Given the description of an element on the screen output the (x, y) to click on. 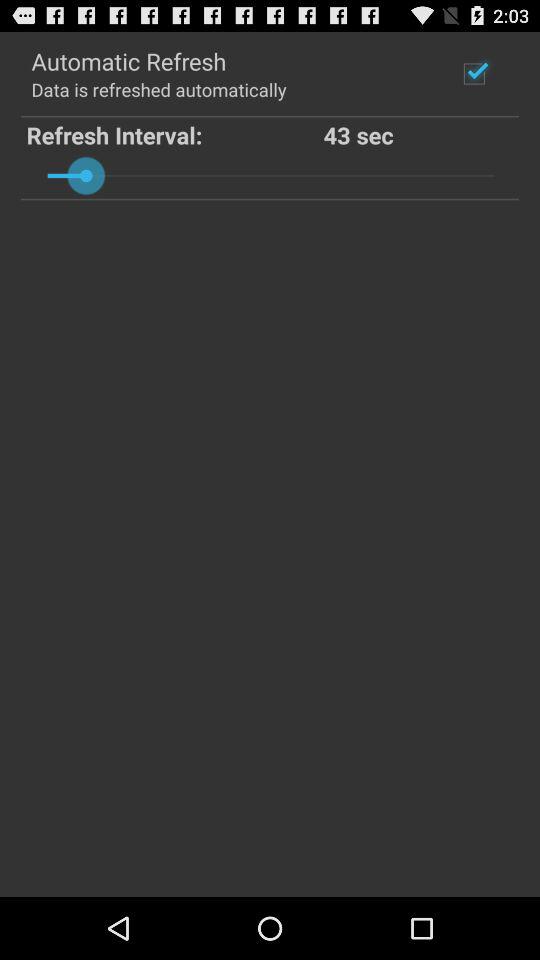
choose automatic refresh icon (128, 60)
